Given the description of an element on the screen output the (x, y) to click on. 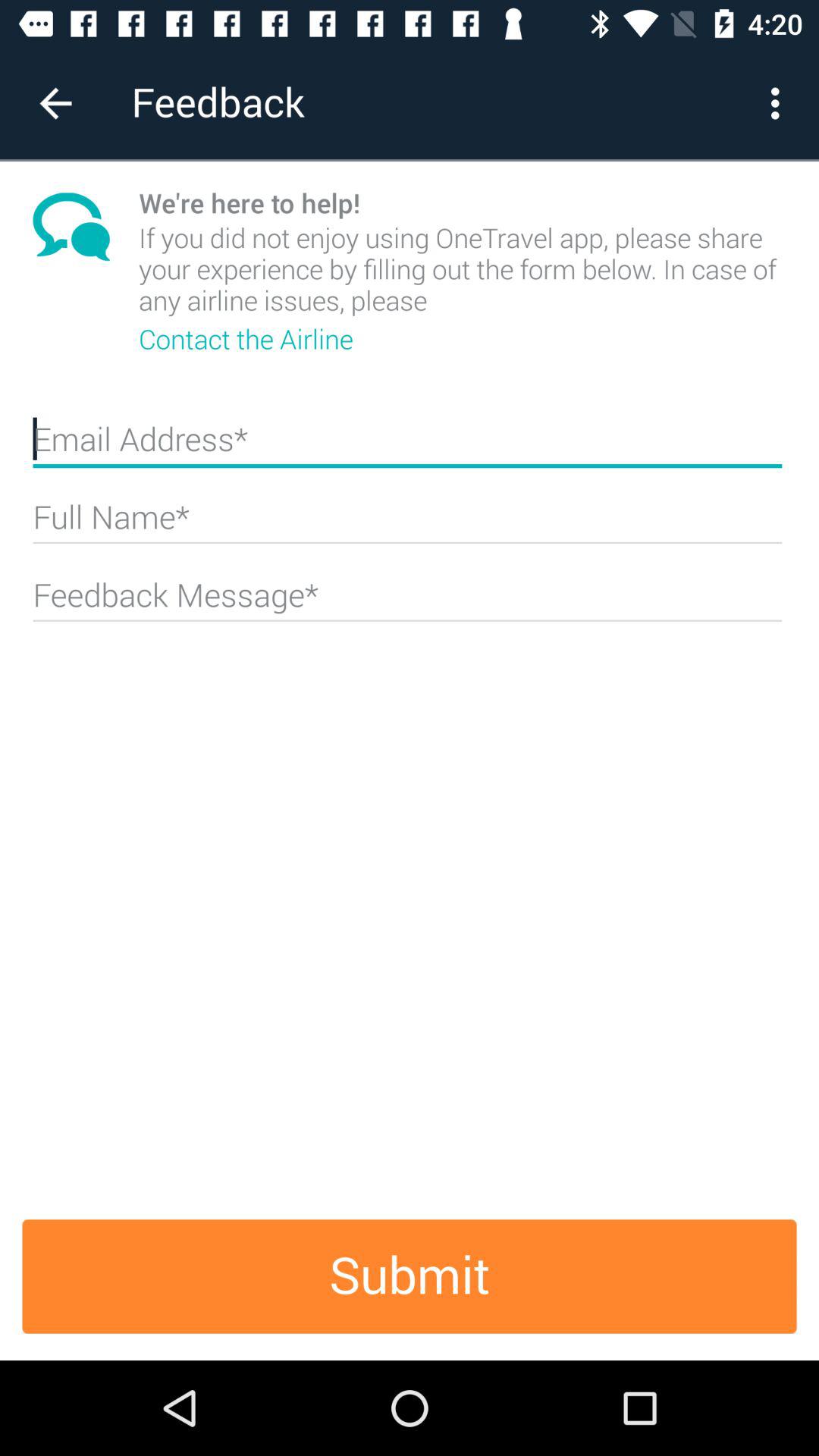
feedback in text (407, 601)
